Given the description of an element on the screen output the (x, y) to click on. 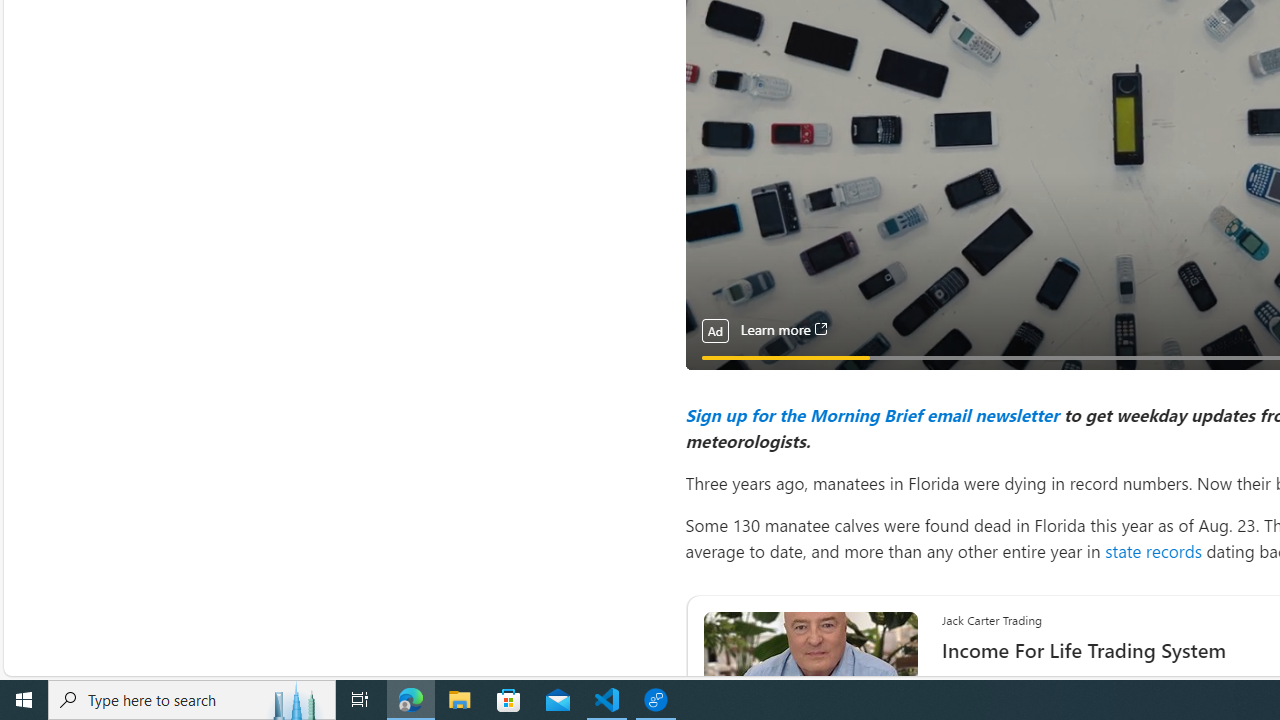
state records (1152, 550)
Pause (714, 380)
Learn more (783, 330)
Sign up for the Morning Brief email newsletter (871, 414)
